Given the description of an element on the screen output the (x, y) to click on. 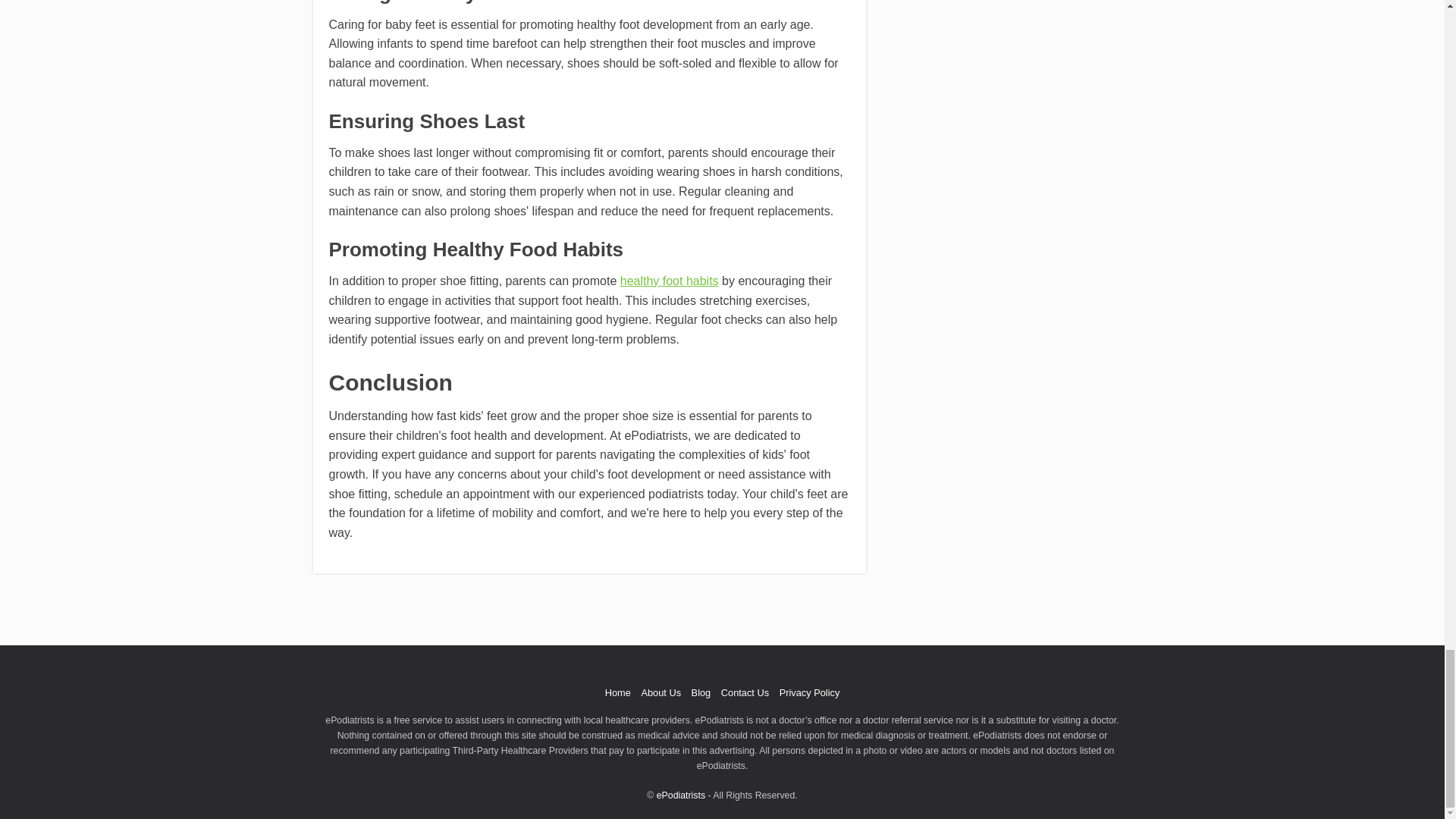
About Us (660, 692)
Home (617, 692)
Blog (701, 692)
healthy foot habits (669, 280)
